Given the description of an element on the screen output the (x, y) to click on. 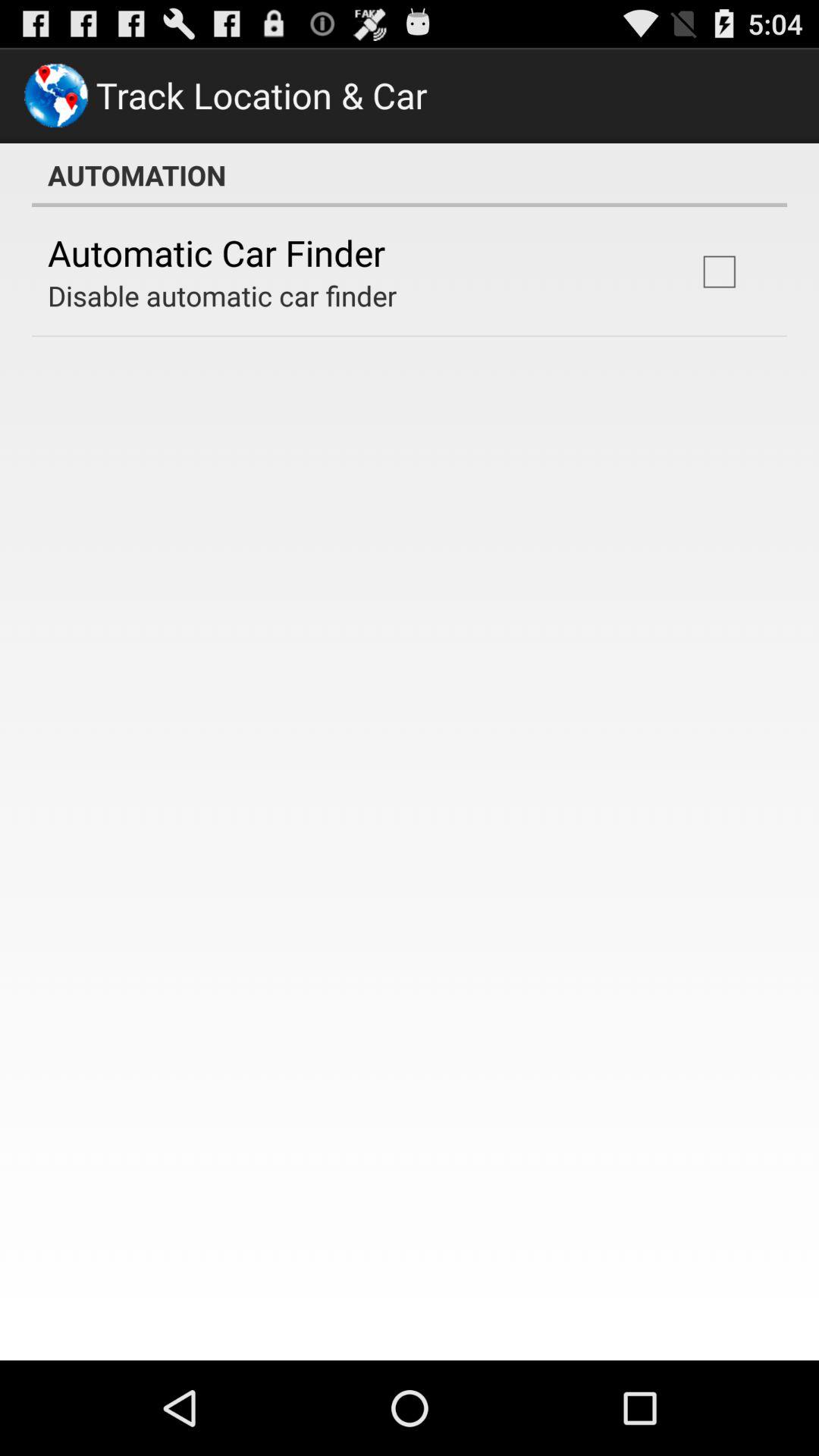
turn on the item to the right of the disable automatic car (719, 271)
